Given the description of an element on the screen output the (x, y) to click on. 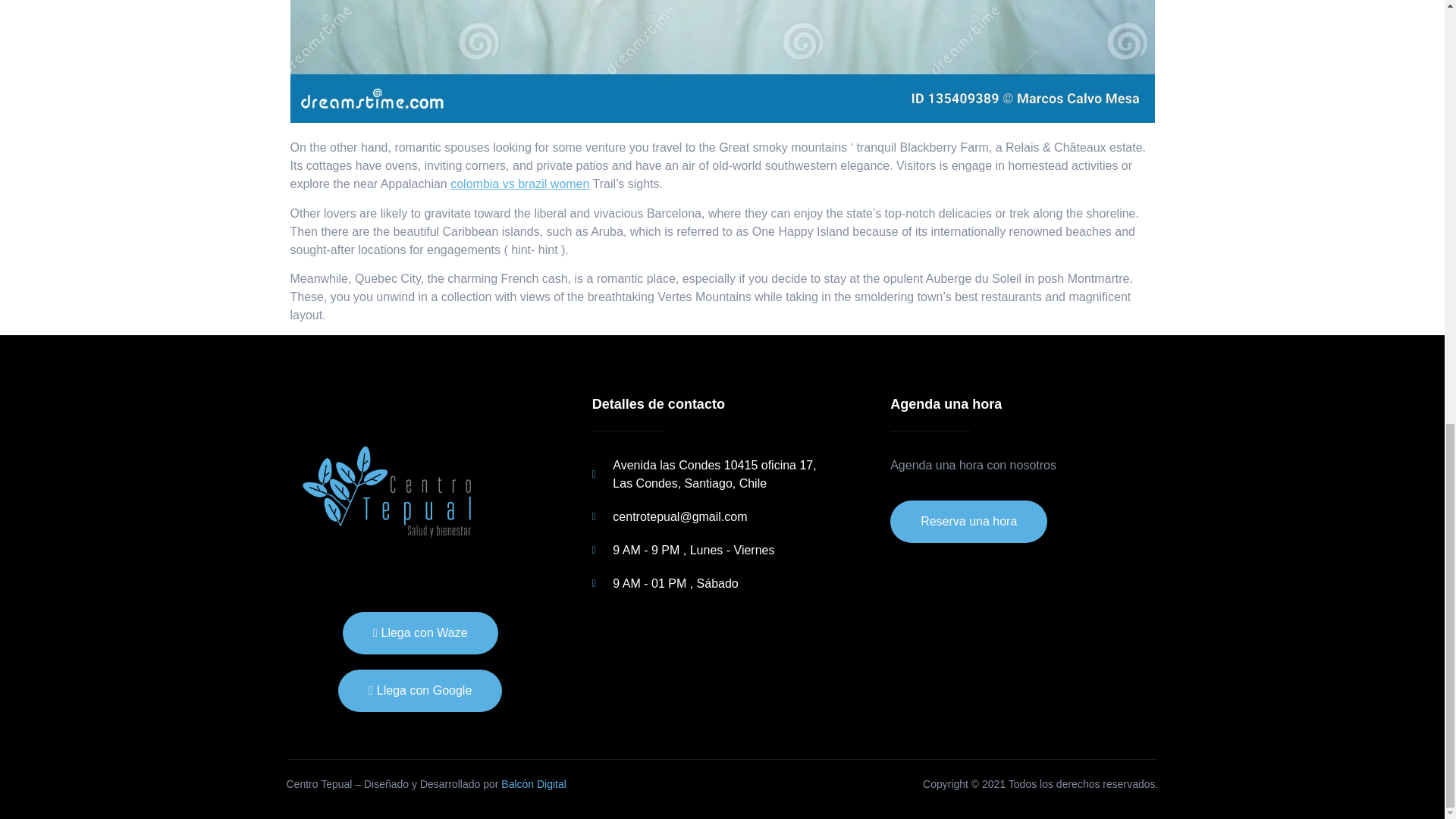
Reserva una hora (967, 521)
Llega con Google (419, 690)
colombia vs brazil women (519, 183)
Llega con Waze (419, 632)
